Given the description of an element on the screen output the (x, y) to click on. 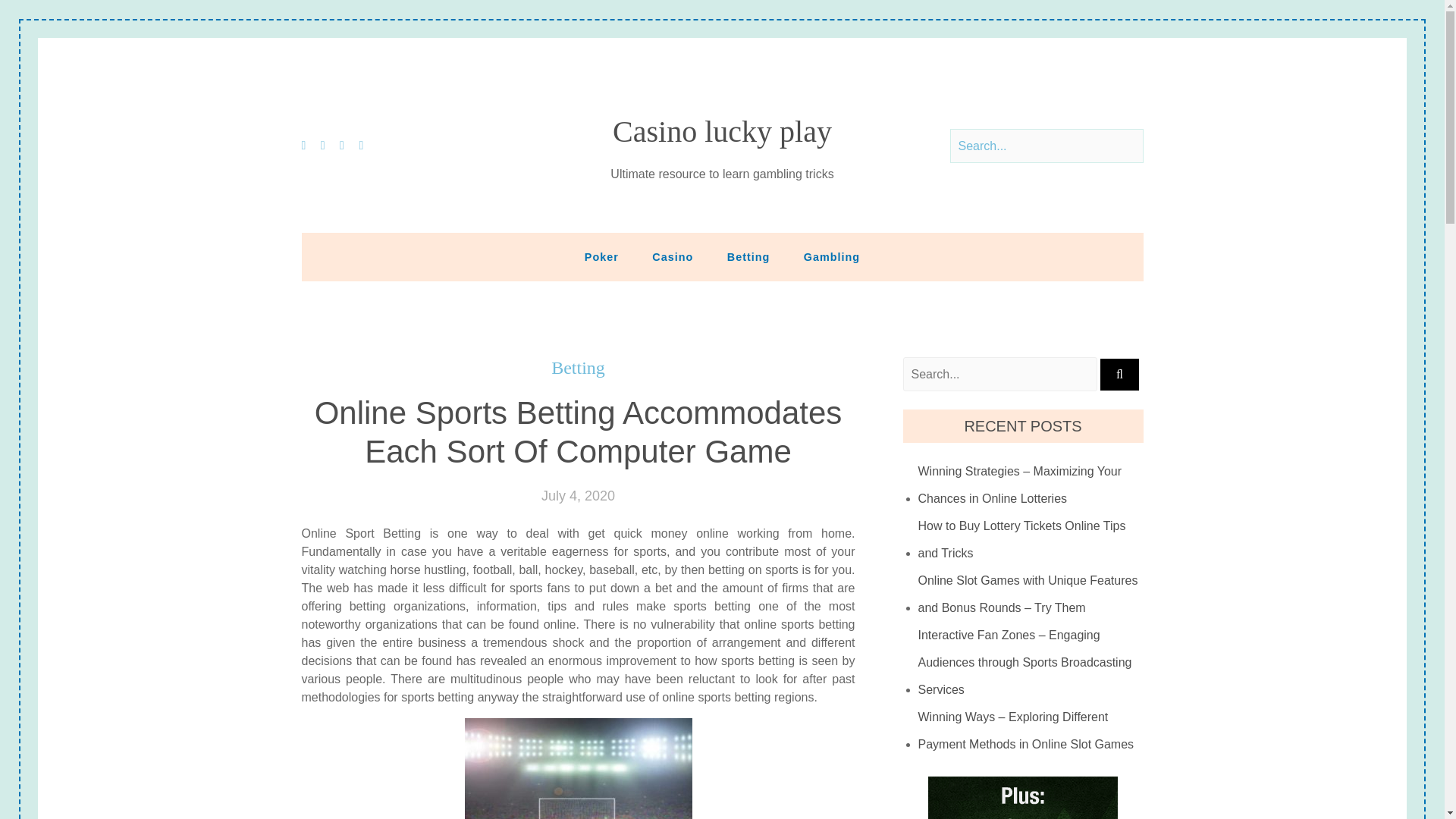
Casino (672, 256)
Betting (578, 368)
July 4, 2020 (577, 496)
Gambling (832, 256)
Poker (601, 256)
Betting (748, 256)
How to Buy Lottery Tickets Online Tips and Tricks (1030, 539)
Casino lucky play (721, 131)
